Given the description of an element on the screen output the (x, y) to click on. 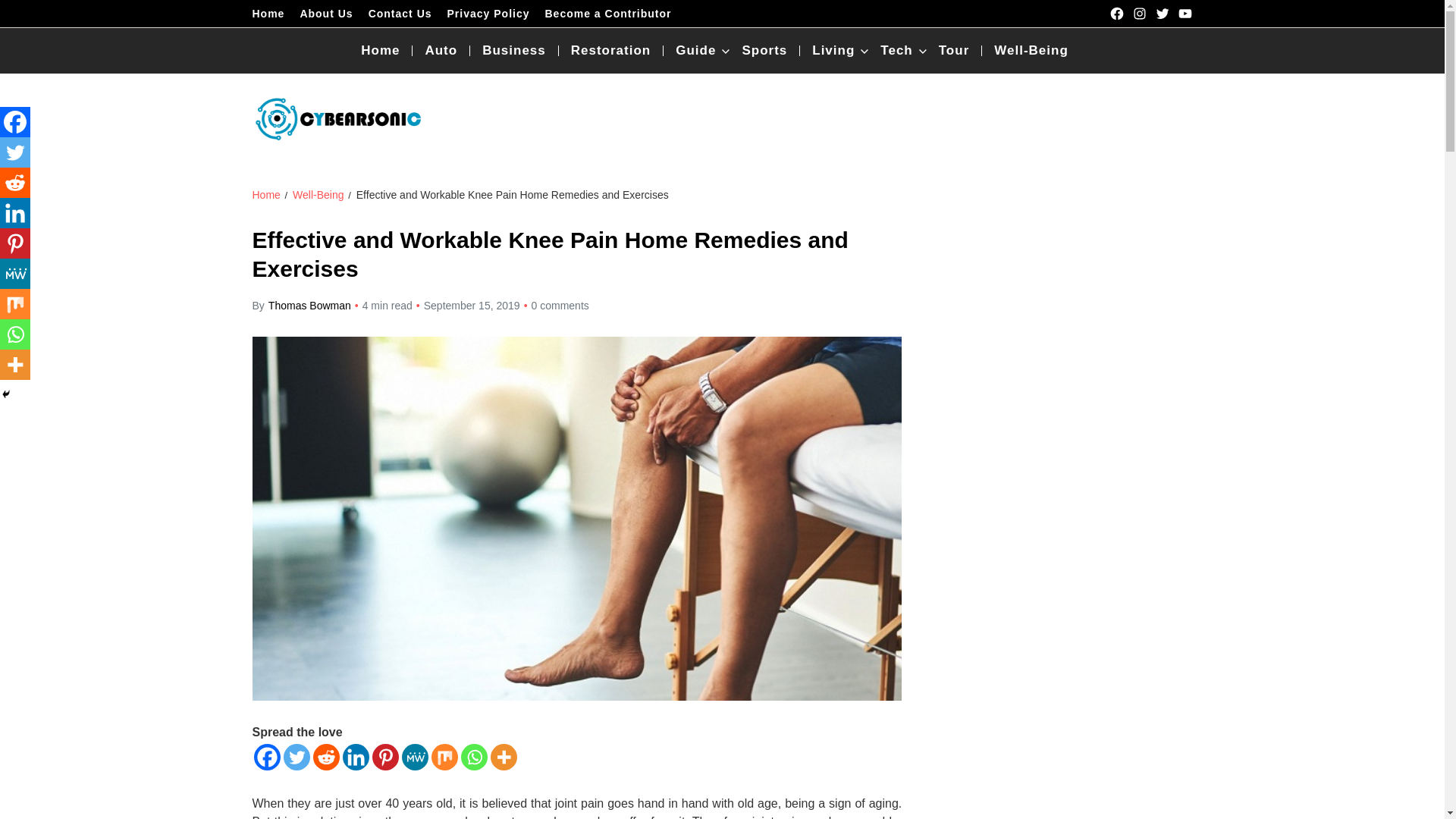
Restoration (616, 50)
Business (520, 50)
Privacy Policy (487, 13)
Well-Being (317, 194)
Sports (770, 50)
Auto (447, 50)
MeWe (414, 756)
Contact Us (400, 13)
Well-Being (1031, 50)
MeWe (15, 273)
Home (386, 50)
Tour (960, 50)
Pinterest (15, 243)
About Us (325, 13)
Become a Contributor (607, 13)
